Given the description of an element on the screen output the (x, y) to click on. 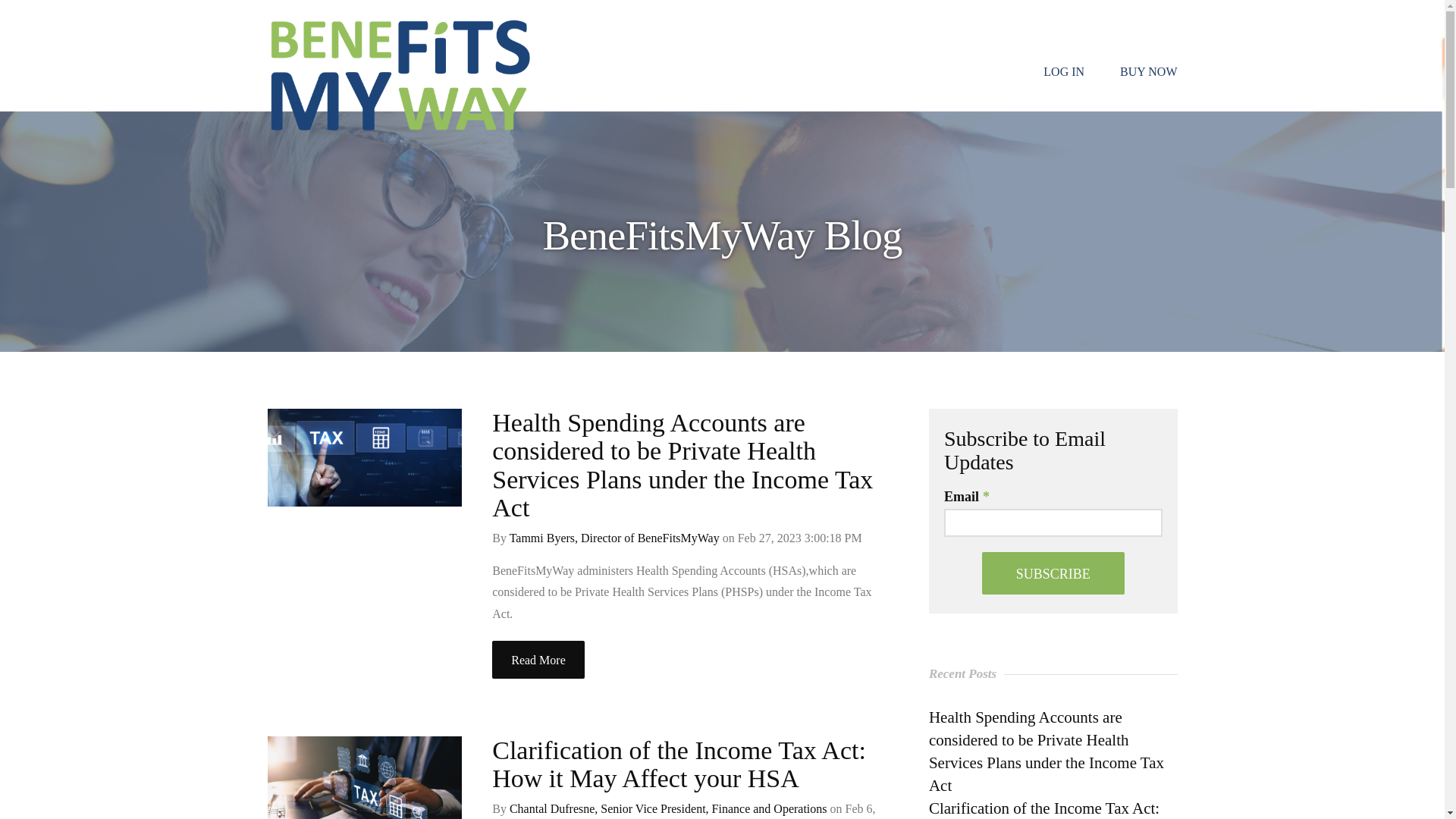
Tammi Byers, Director of BeneFitsMyWay Element type: text (614, 537)
BUY NOW Element type: text (1148, 71)
BenefitsMyWay Logo Element type: hover (399, 74)
Read More Element type: text (538, 659)
Subscribe Element type: text (1053, 573)
LOG IN Element type: text (1063, 71)
